Given the description of an element on the screen output the (x, y) to click on. 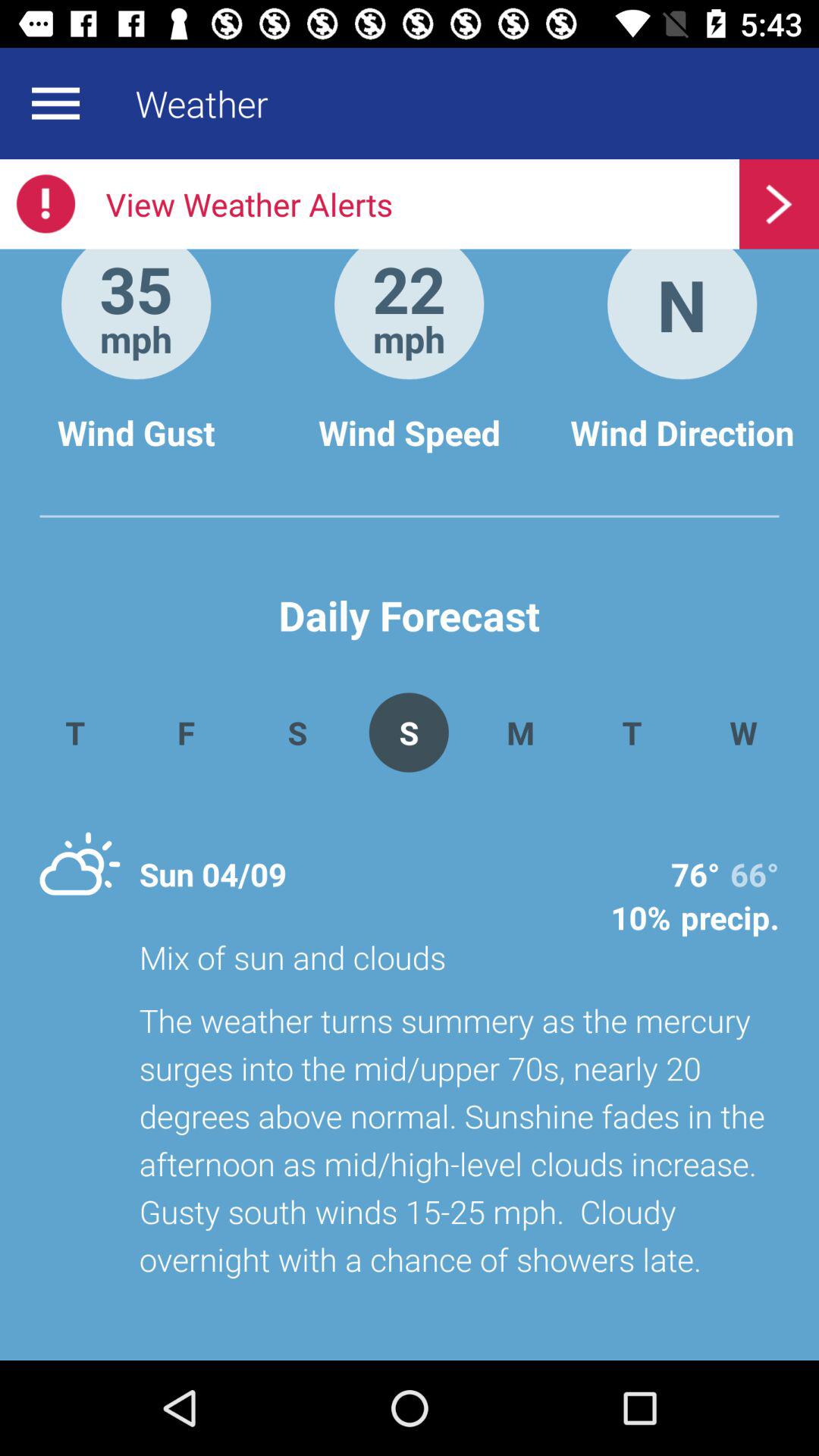
tap the icon to the left of the t (520, 732)
